Given the description of an element on the screen output the (x, y) to click on. 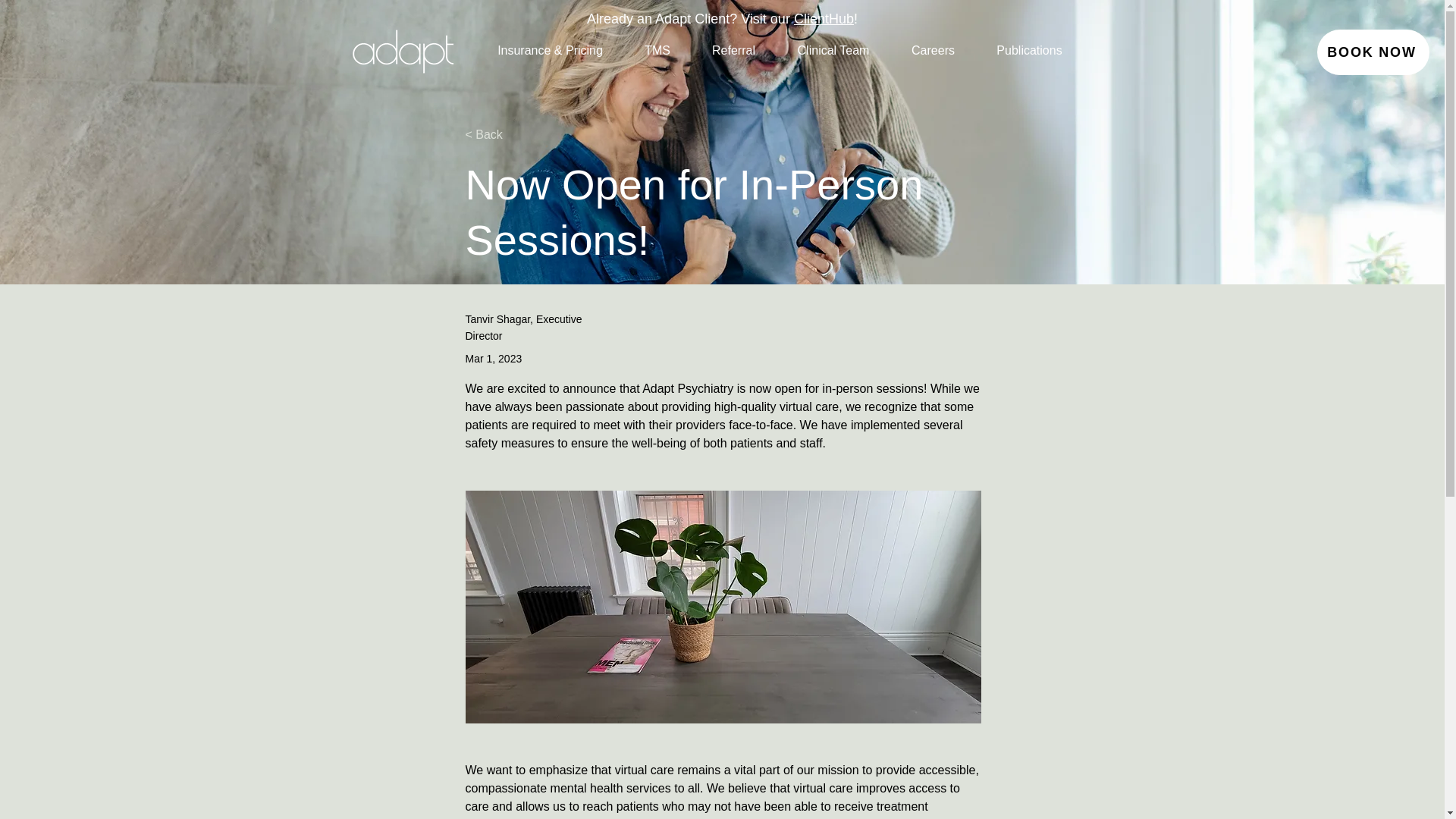
Clinical Team (833, 50)
ClientHub (823, 18)
Careers (932, 50)
TMS (656, 50)
Adapt Psychiatry Logo (401, 48)
Referral (733, 50)
BOOK NOW (1373, 52)
